Given the description of an element on the screen output the (x, y) to click on. 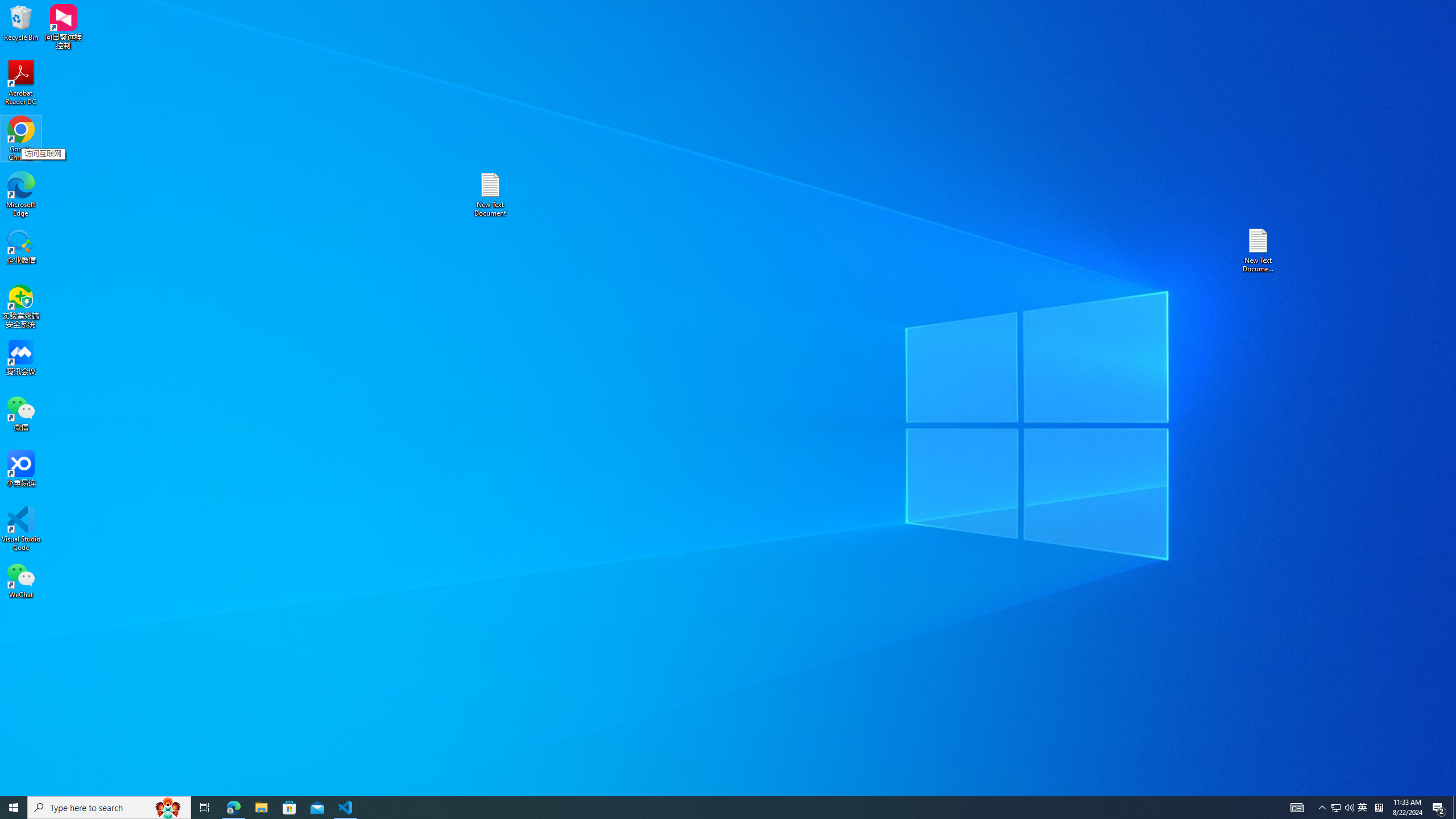
Visual Studio Code - 1 running window (345, 807)
Start (13, 807)
WeChat (21, 580)
Task View (204, 807)
Recycle Bin (1362, 807)
Notification Chevron (21, 22)
Microsoft Edge - 1 running window (1322, 807)
Acrobat Reader DC (233, 807)
New Text Document (2) (21, 82)
Tray Input Indicator - Chinese (Simplified, China) (1258, 250)
Show desktop (1378, 807)
New Text Document (1454, 807)
